Given the description of an element on the screen output the (x, y) to click on. 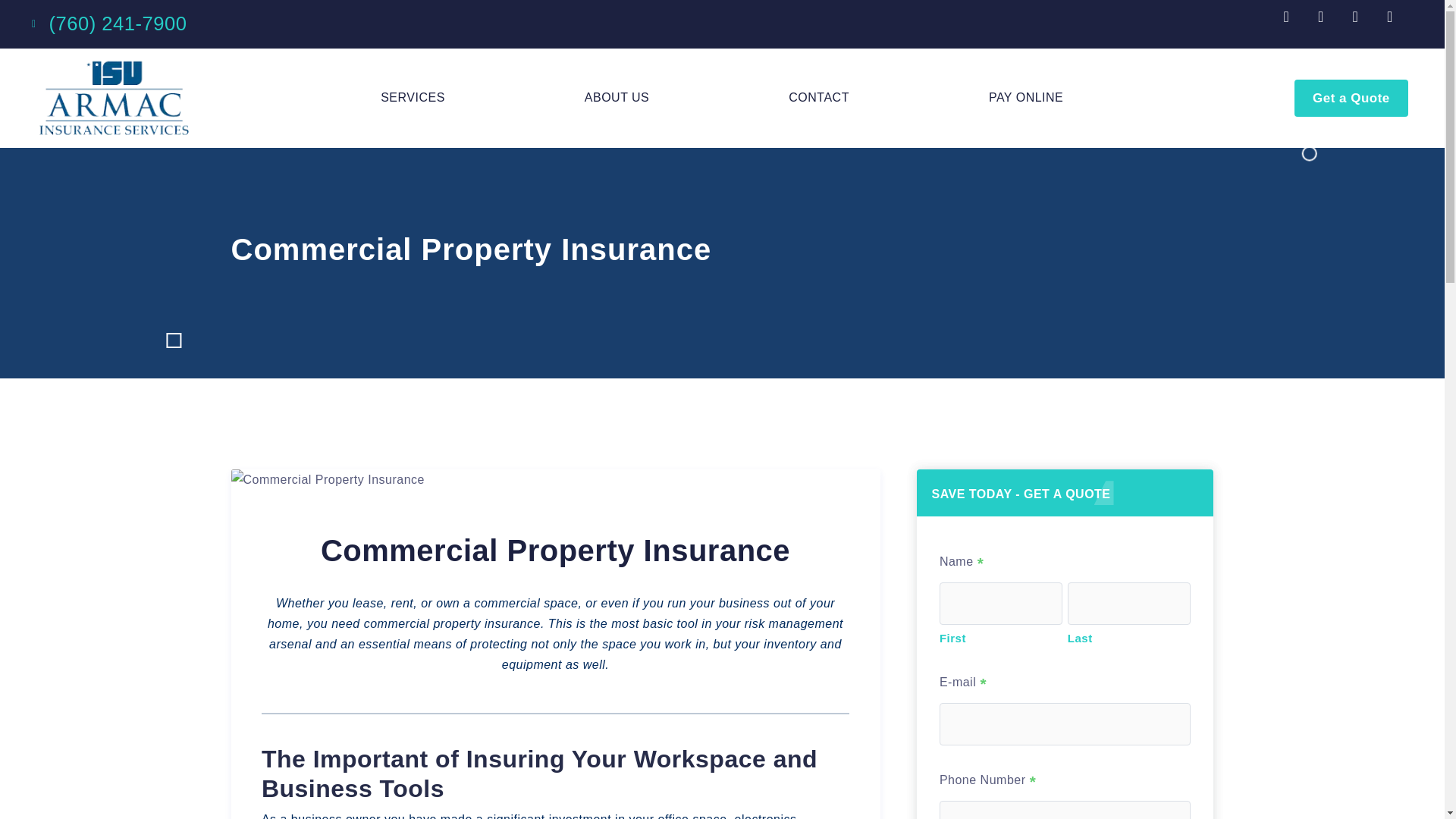
Call Us! (117, 23)
ABOUT US (617, 97)
Get a Quote (1350, 98)
CONTACT (818, 97)
PAY ONLINE (1025, 97)
SERVICES (413, 97)
